Given the description of an element on the screen output the (x, y) to click on. 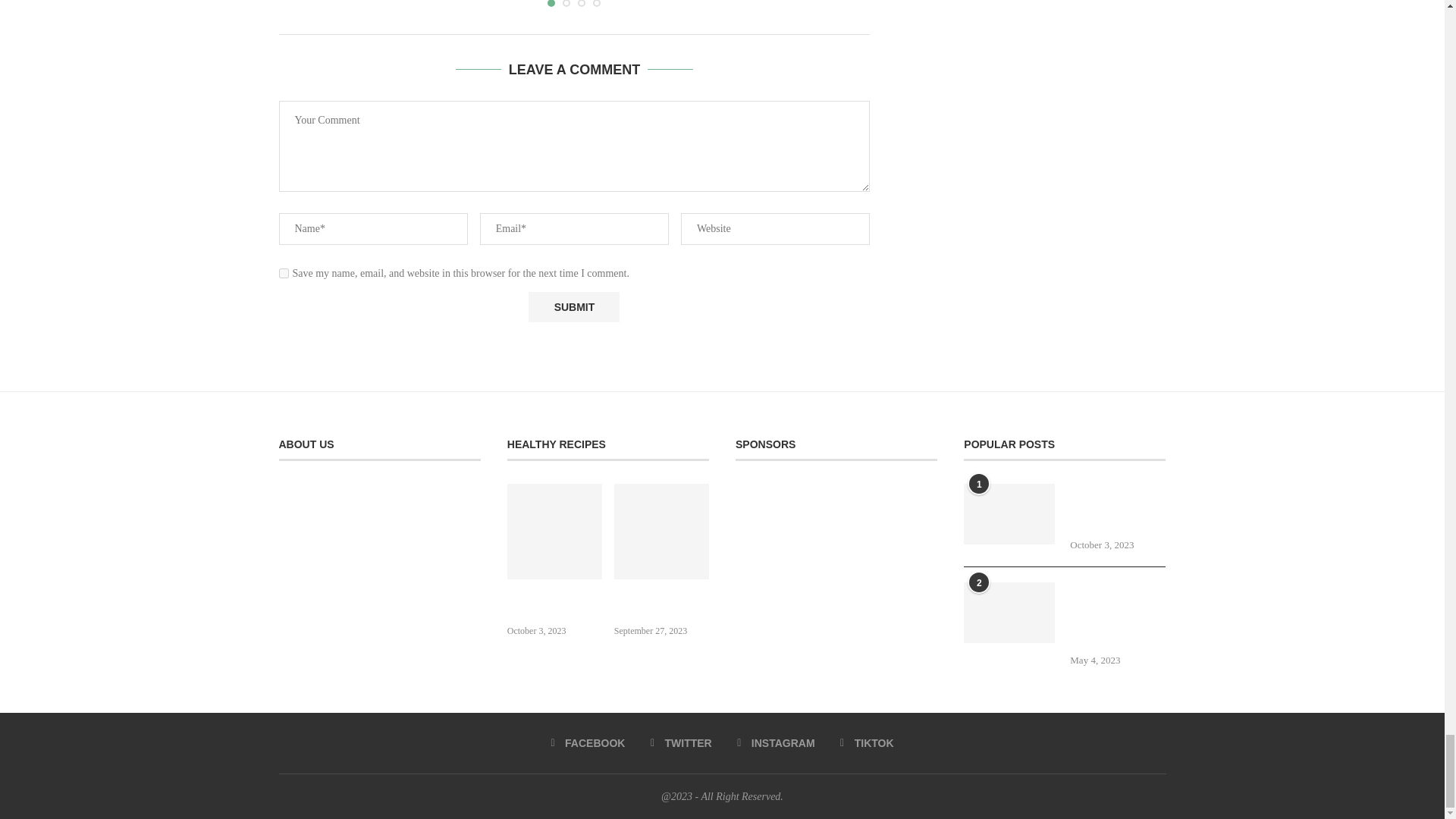
yes (283, 273)
Submit (574, 306)
